Given the description of an element on the screen output the (x, y) to click on. 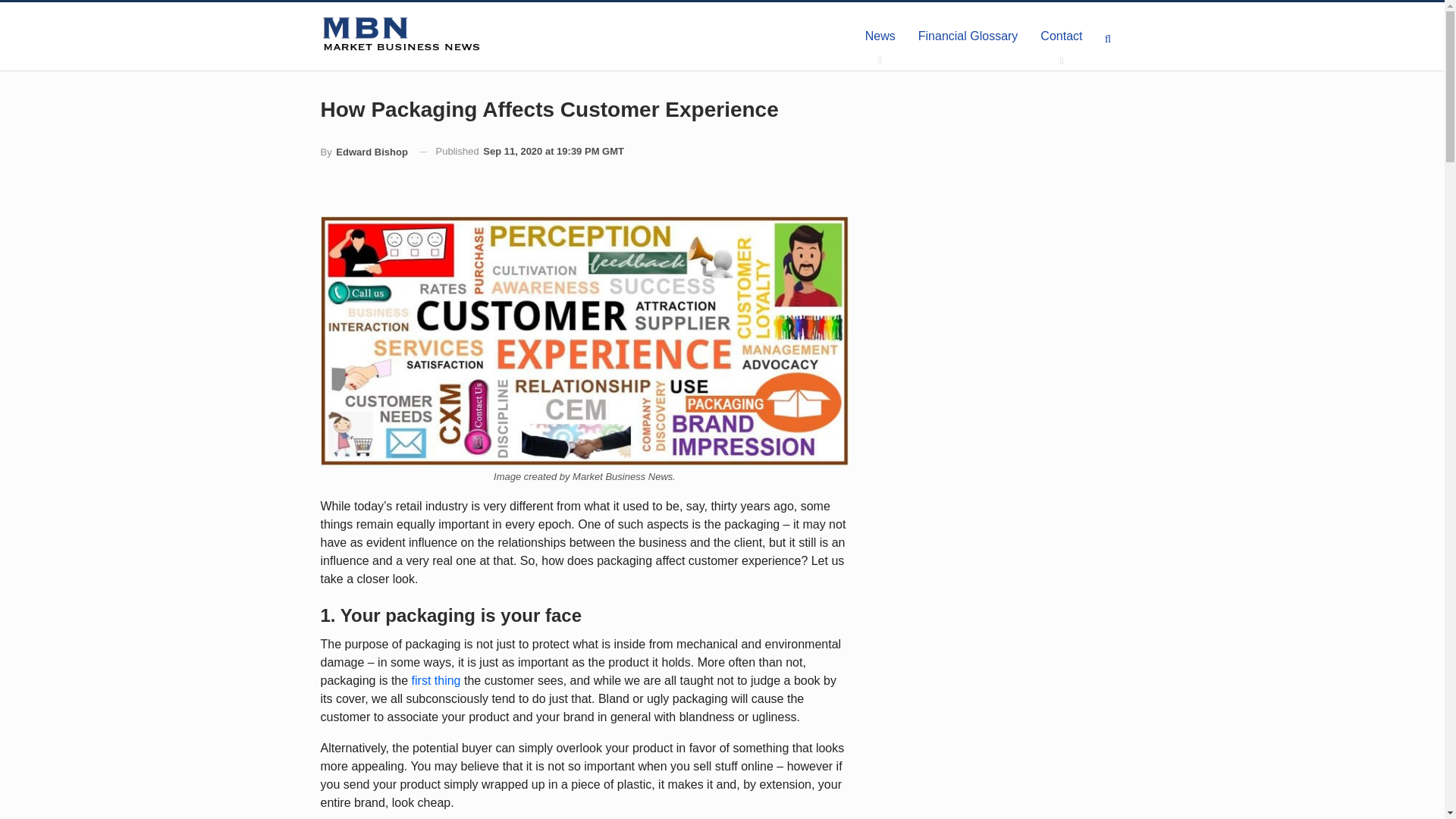
first thing (436, 680)
Browse Author Articles (363, 152)
News (880, 36)
By Edward Bishop (363, 152)
Contact (1061, 36)
Financial Glossary (968, 36)
